Given the description of an element on the screen output the (x, y) to click on. 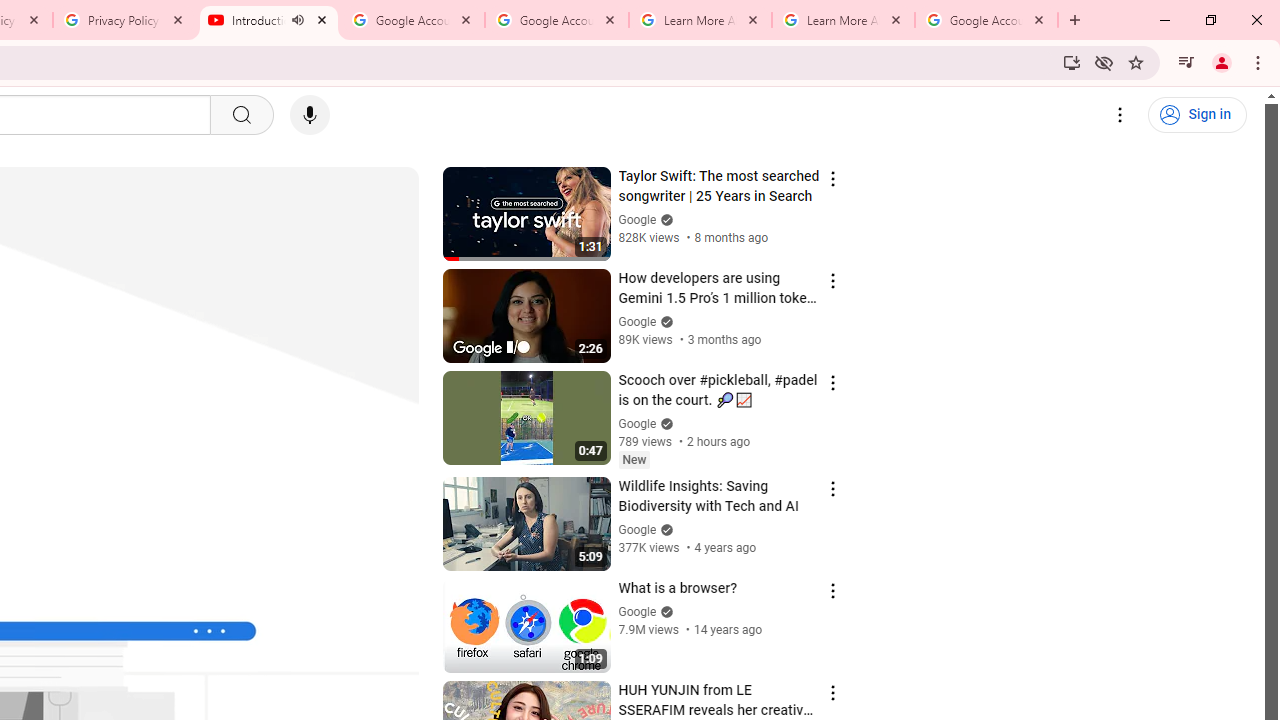
Google Account (986, 20)
